Given the description of an element on the screen output the (x, y) to click on. 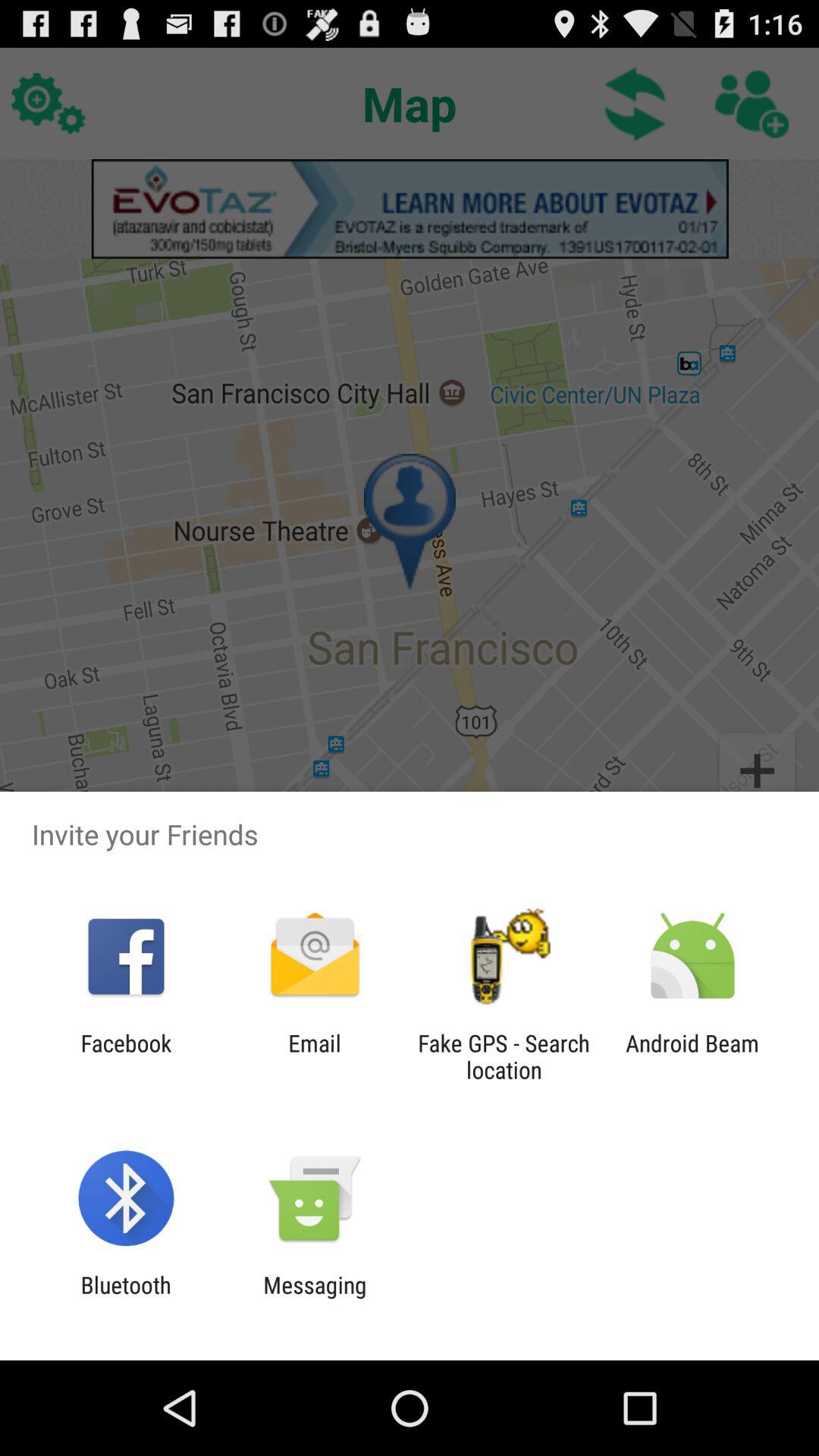
open the item to the left of fake gps search item (314, 1056)
